Given the description of an element on the screen output the (x, y) to click on. 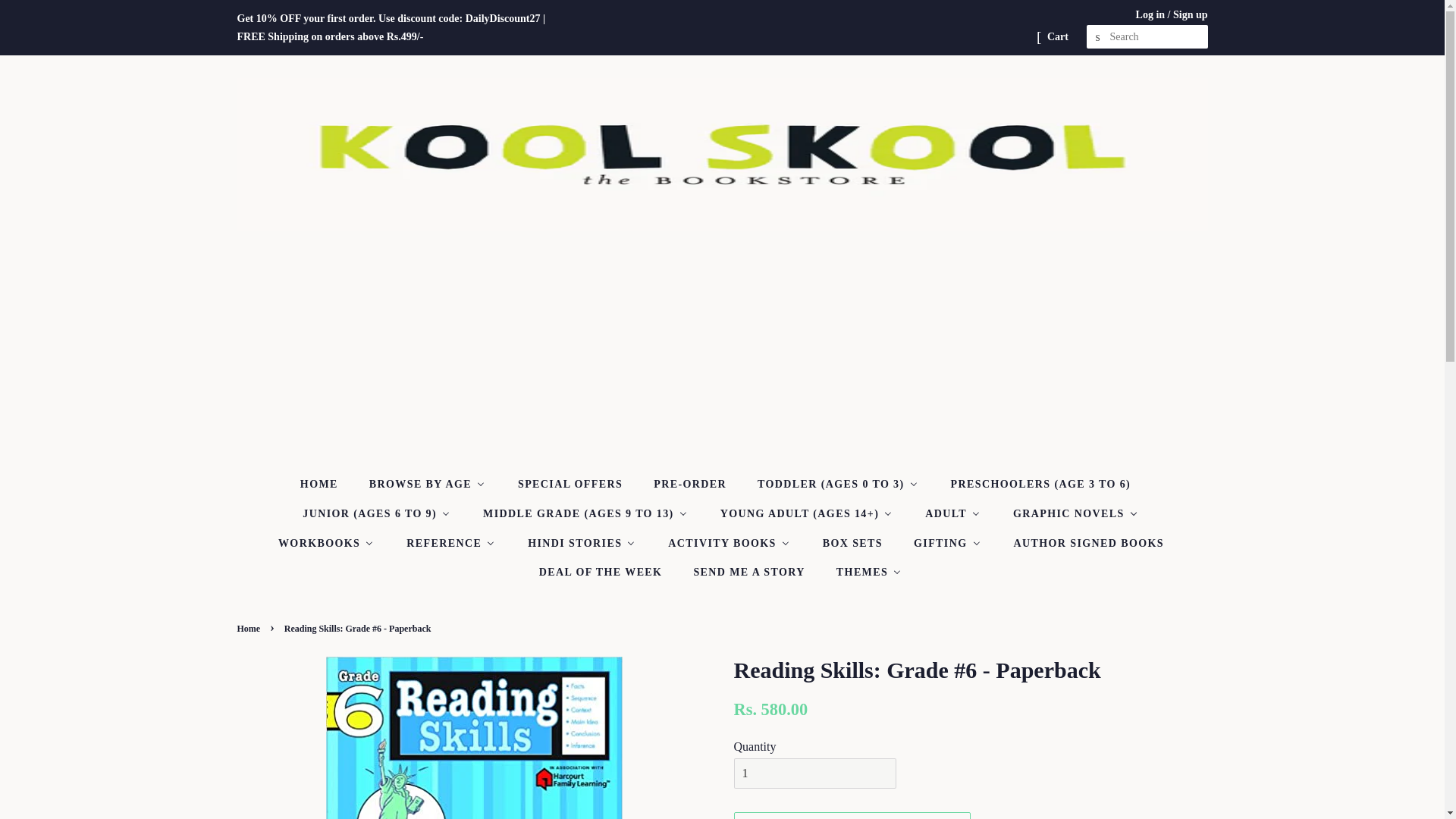
Sign up (1190, 14)
Cart (1057, 36)
SEARCH (1097, 37)
Log in (1150, 14)
1 (814, 773)
